Given the description of an element on the screen output the (x, y) to click on. 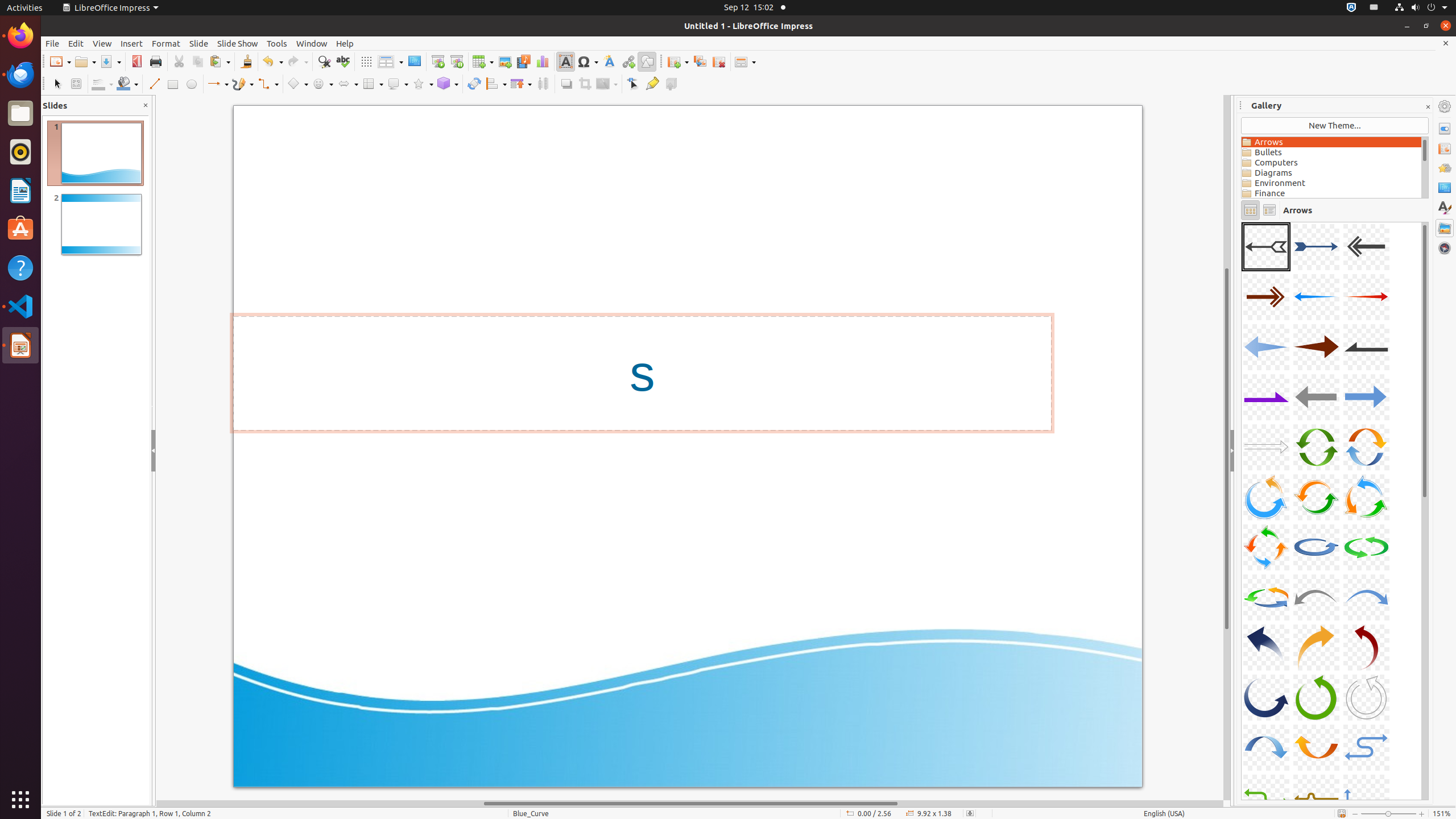
3D Objects Element type: push-button (447, 83)
Table Element type: push-button (482, 61)
Duplicate Slide Element type: push-button (699, 61)
A36-CurvedArrow-LightBlue-Up Element type: list-item (1241, 222)
Crop Element type: push-button (584, 83)
